Given the description of an element on the screen output the (x, y) to click on. 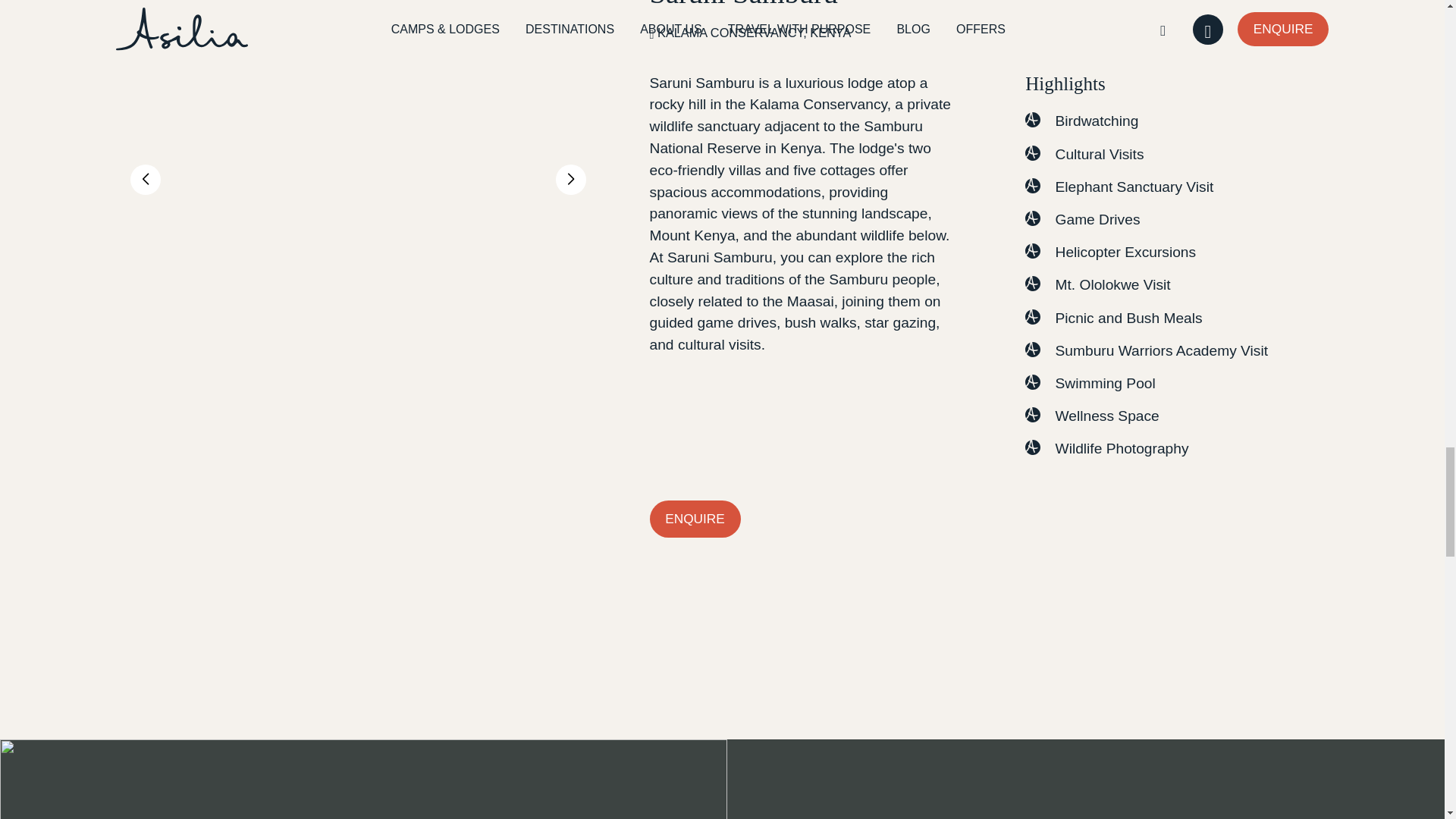
ENQUIRE (695, 518)
